Given the description of an element on the screen output the (x, y) to click on. 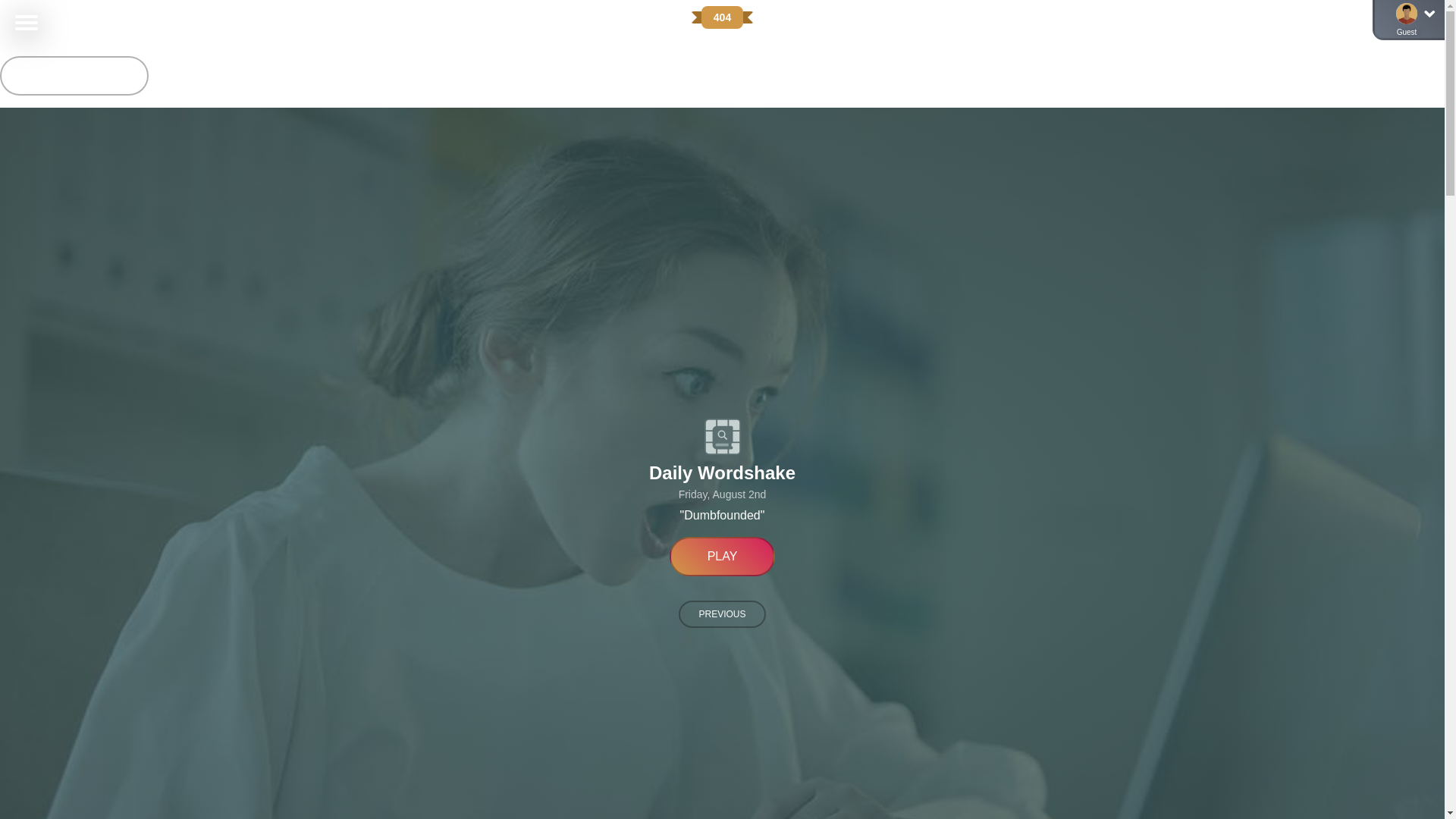
PLAY (722, 556)
DAILY GAME (74, 75)
PREVIOUS (721, 614)
